Given the description of an element on the screen output the (x, y) to click on. 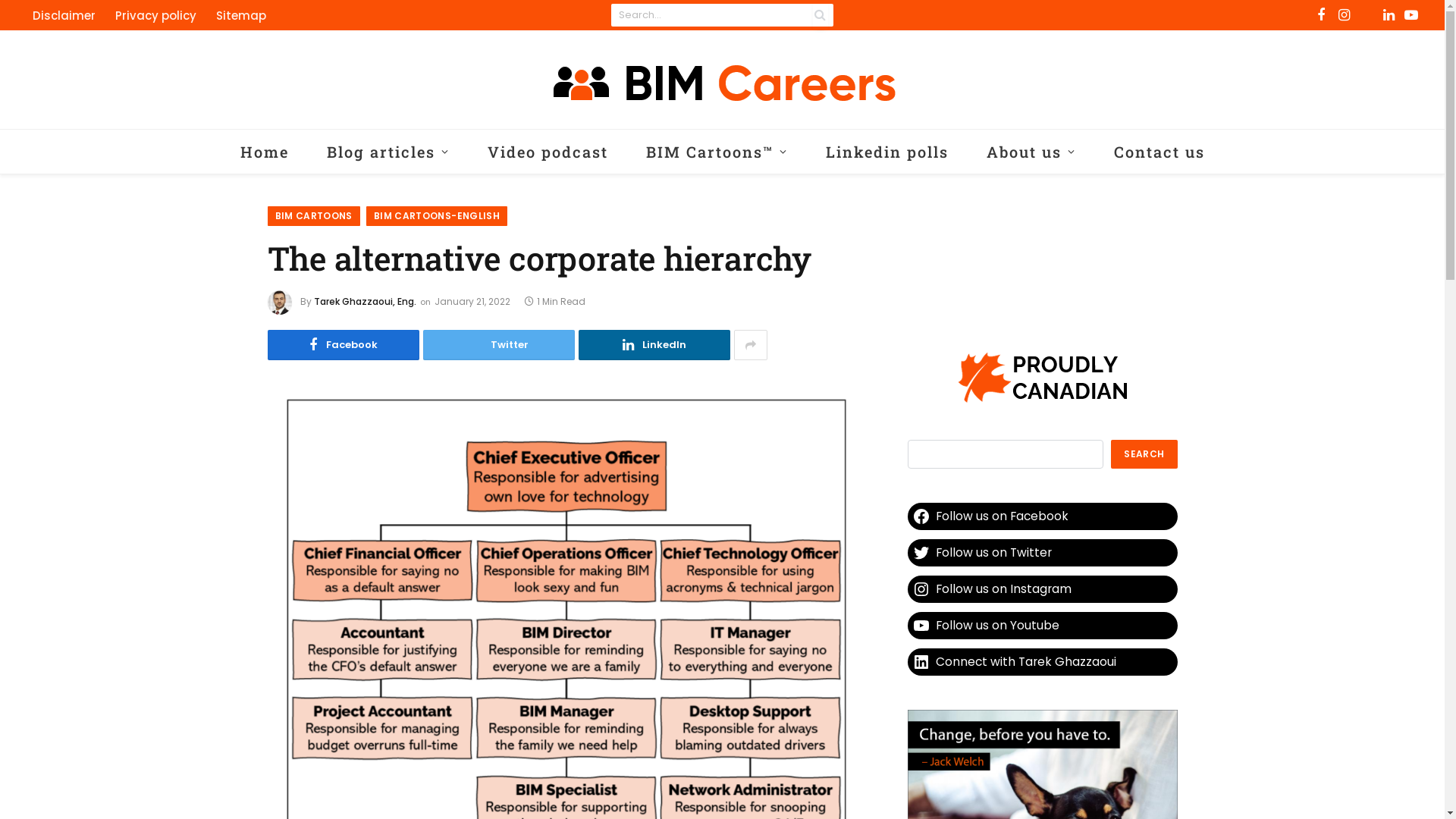
Contact us Element type: text (1159, 151)
LinkedIn Element type: text (653, 344)
Tarek Ghazzaoui, Eng. Element type: text (364, 300)
Twitter Element type: text (498, 344)
Show More Social Sharing Element type: hover (750, 344)
Video podcast Element type: text (547, 151)
Follow us on Youtube Element type: text (1041, 625)
YouTube Element type: text (1410, 15)
Home Element type: text (264, 151)
Follow us on Twitter Element type: text (1041, 552)
BIM CARTOONS-ENGLISH Element type: text (436, 215)
Connect with Tarek Ghazzaoui Element type: text (1041, 661)
Sitemap Element type: text (241, 15)
Blog articles Element type: text (387, 151)
Follow us on Instagram Element type: text (1041, 588)
Follow us on Facebook Element type: text (1041, 516)
BIM CARTOONS Element type: text (312, 215)
Disclaimer Element type: text (63, 15)
BIM Careers Element type: hover (721, 79)
Facebook Element type: text (342, 344)
Instagram Element type: text (1344, 15)
Linkedin polls Element type: text (886, 151)
About us Element type: text (1031, 151)
LinkedIn Element type: text (1388, 15)
SEARCH Element type: text (1143, 453)
Twitter Element type: text (1366, 15)
Privacy policy Element type: text (155, 15)
Facebook Element type: text (1321, 15)
